Given the description of an element on the screen output the (x, y) to click on. 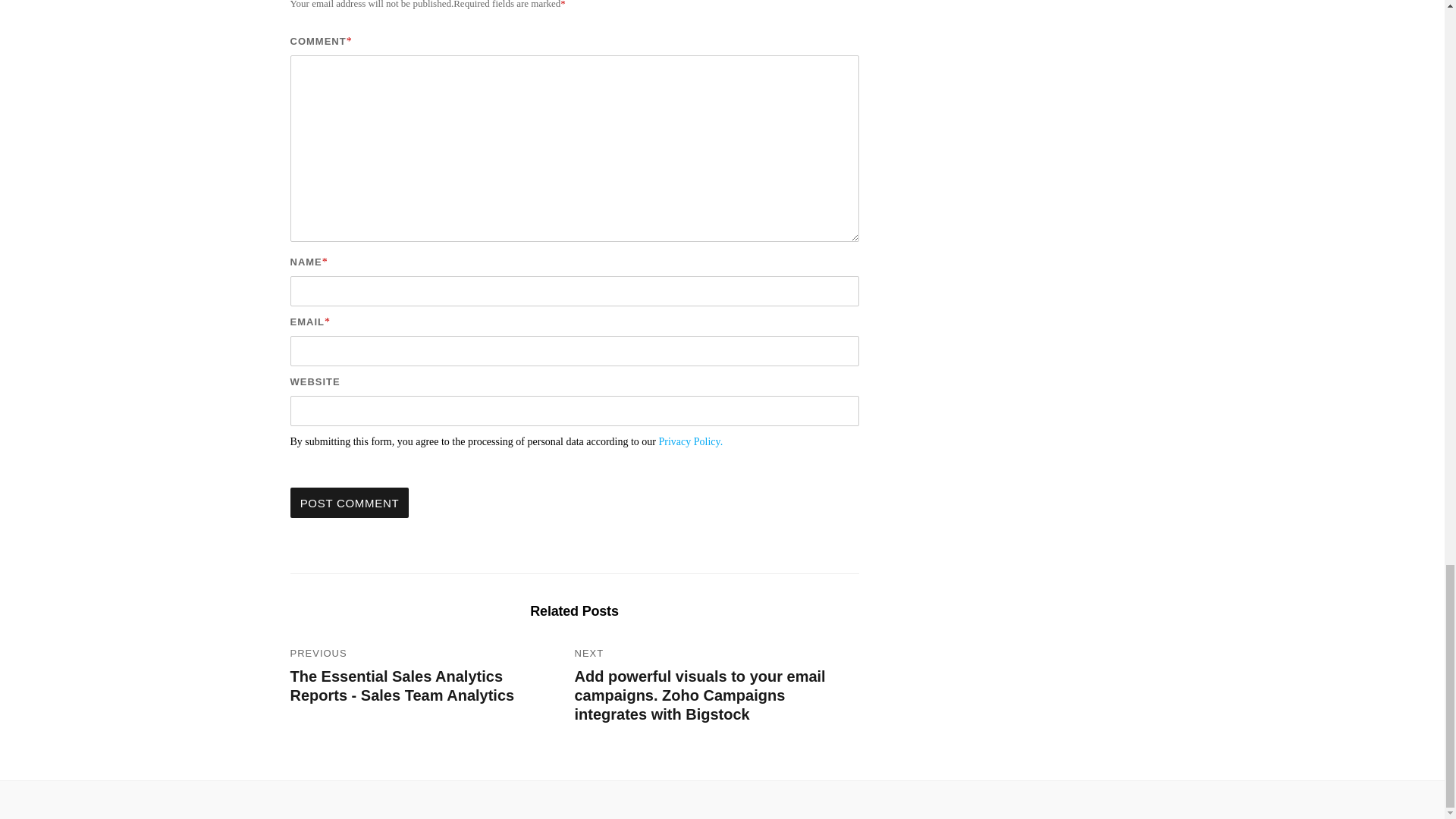
Post Comment (349, 501)
Post Comment (349, 501)
Privacy Policy. (691, 441)
